Given the description of an element on the screen output the (x, y) to click on. 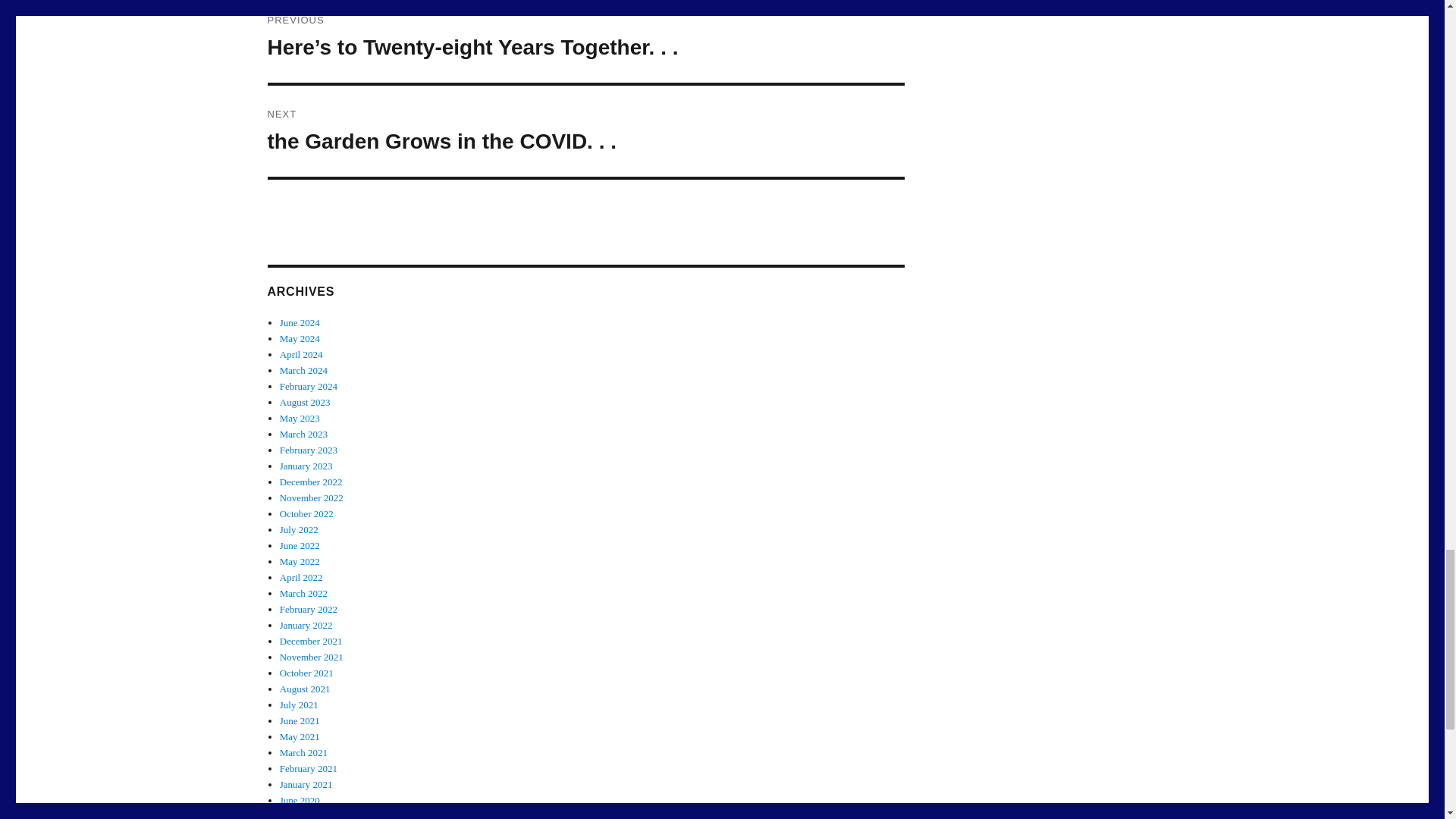
August 2023 (304, 401)
April 2024 (301, 354)
January 2023 (306, 465)
May 2023 (299, 418)
February 2023 (308, 449)
December 2022 (310, 481)
November 2022 (311, 497)
June 2024 (299, 322)
May 2024 (299, 337)
July 2022 (298, 529)
March 2024 (303, 369)
February 2024 (308, 386)
March 2023 (303, 433)
October 2022 (306, 513)
